Given the description of an element on the screen output the (x, y) to click on. 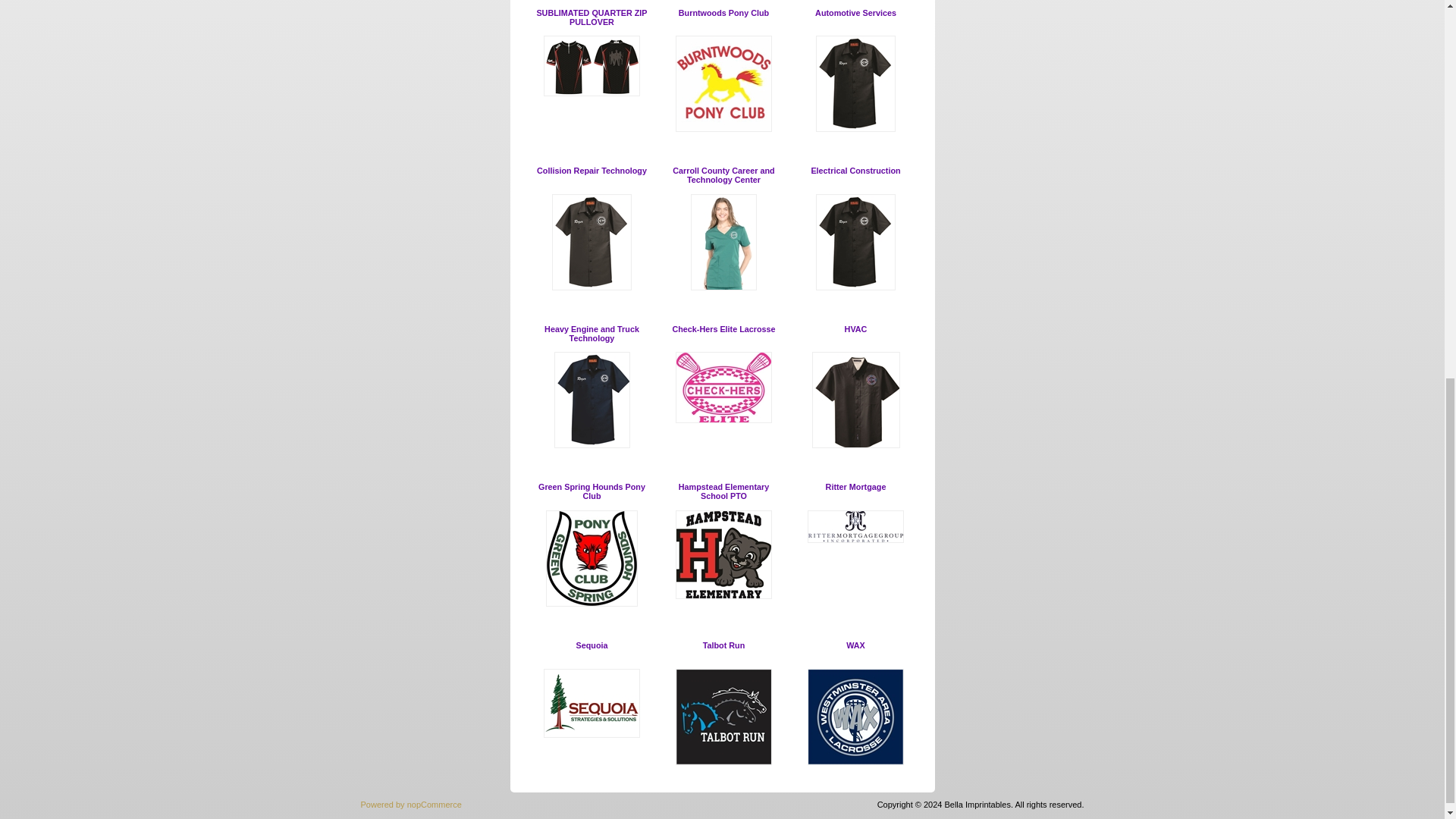
Show products in category SUBLIMATED QUARTER ZIP PULLOVER (591, 66)
Show products in category Automotive Services (855, 12)
Show products in category Burntwoods Pony Club (723, 83)
Show products in category SUBLIMATED QUARTER ZIP PULLOVER (591, 92)
Show products in category Burntwoods Pony Club (723, 128)
Show products in category Automotive Services (855, 128)
Show products in category SUBLIMATED QUARTER ZIP PULLOVER (590, 17)
Show products in category Burntwoods Pony Club (723, 12)
